Given the description of an element on the screen output the (x, y) to click on. 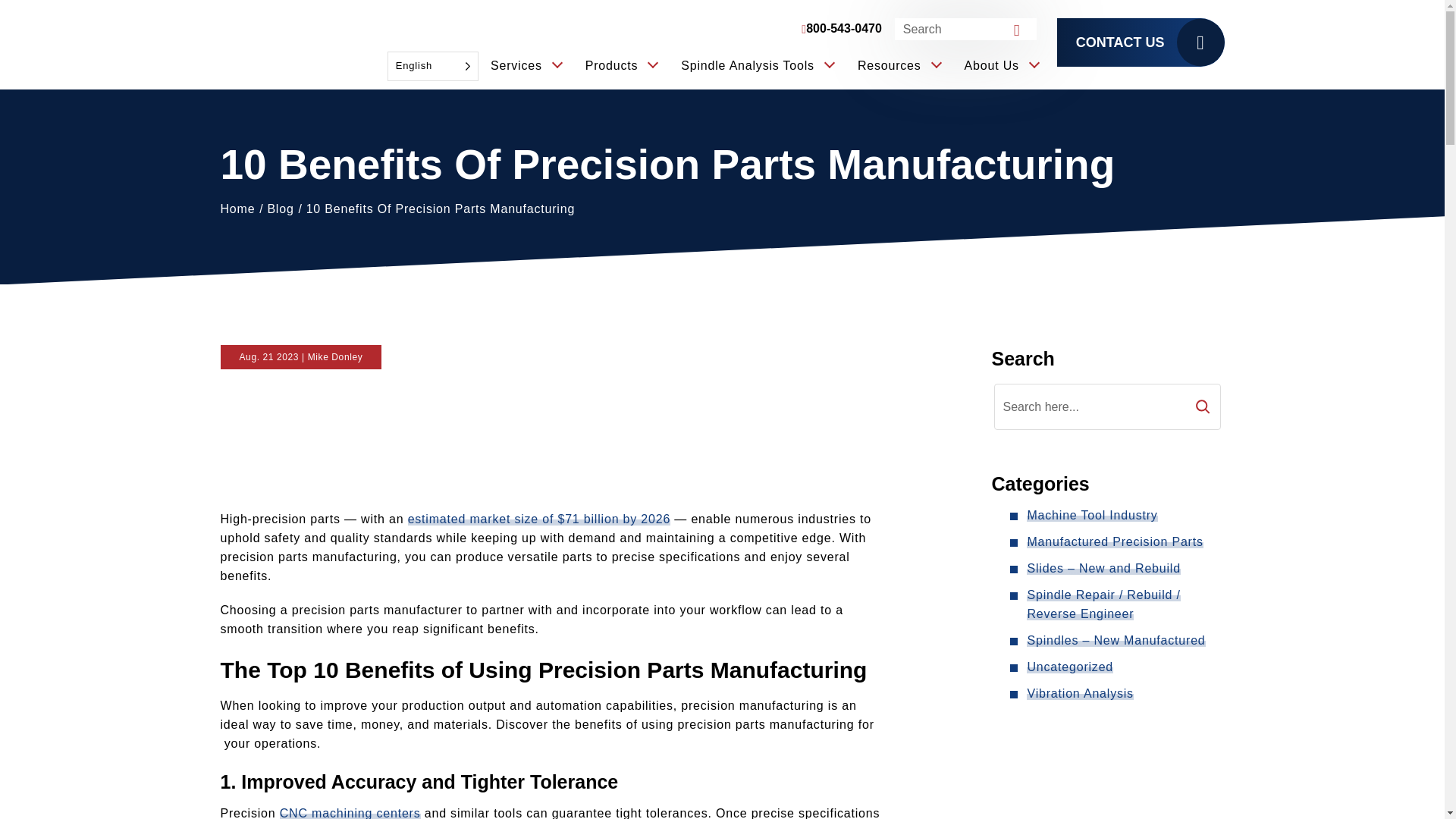
Products (621, 66)
800-543-0470 (841, 28)
Services (525, 66)
